Given the description of an element on the screen output the (x, y) to click on. 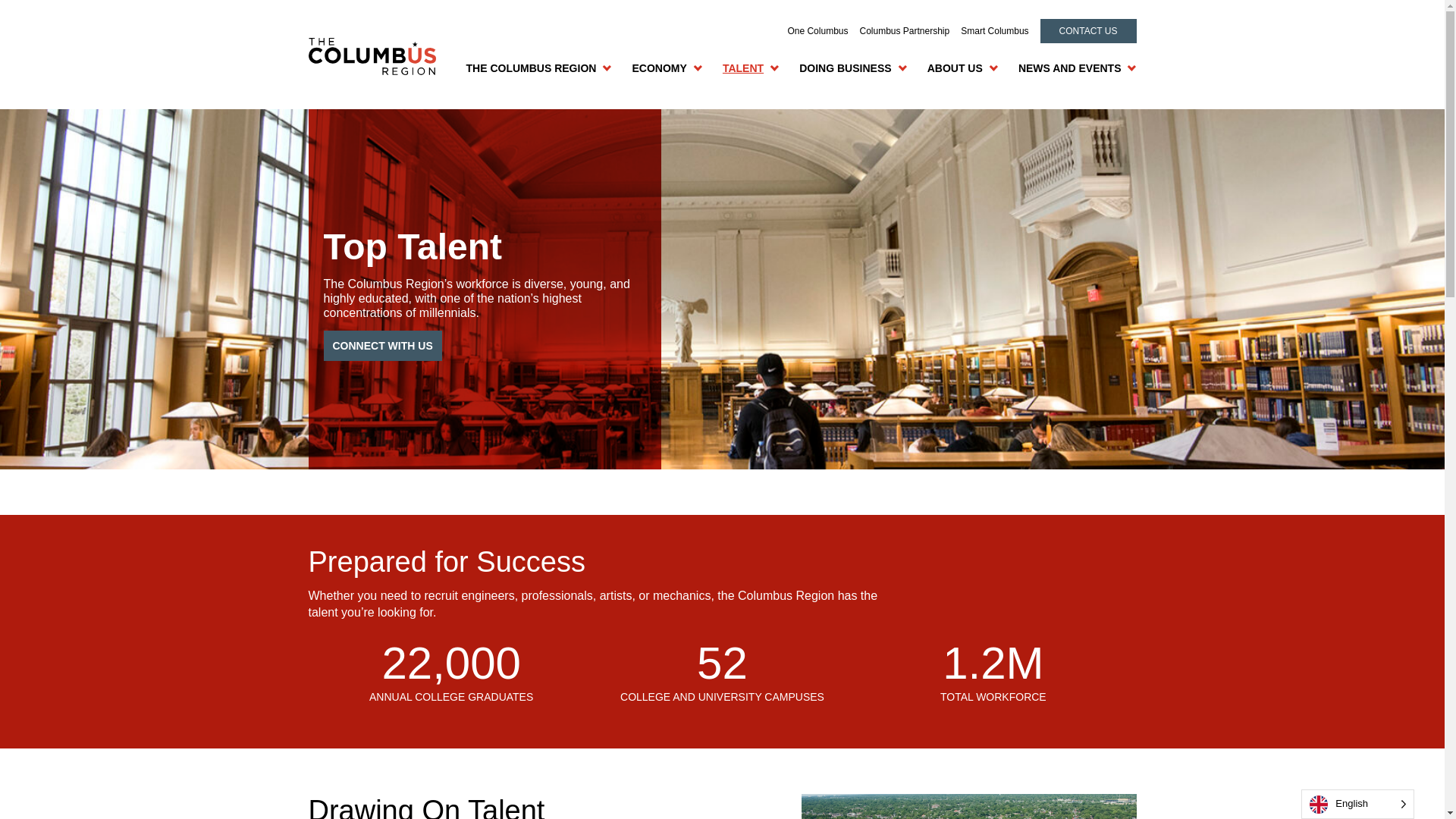
ECONOMY (658, 68)
THE COLUMBUS REGION (531, 68)
